Given the description of an element on the screen output the (x, y) to click on. 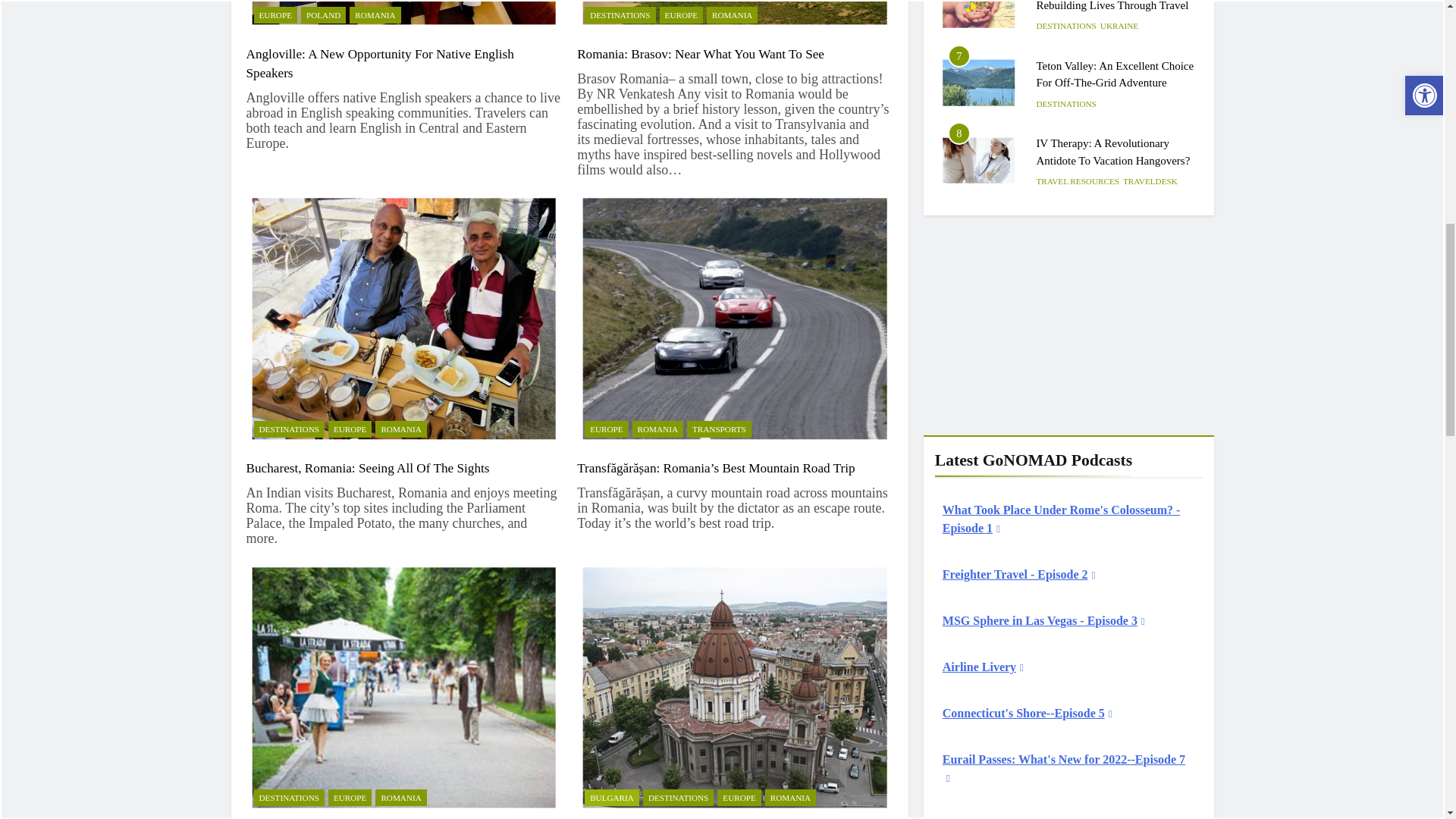
Romania: Brasov: Near What You Want to See (734, 15)
Angloville: A New Opportunity For Native English Speakers (379, 63)
Romania: Brasov: Near What You Want to See (700, 53)
Angloville: A New Opportunity For Native English Speakers (404, 15)
Bucharest, Romania: Seeing All of the Sights (404, 318)
